Given the description of an element on the screen output the (x, y) to click on. 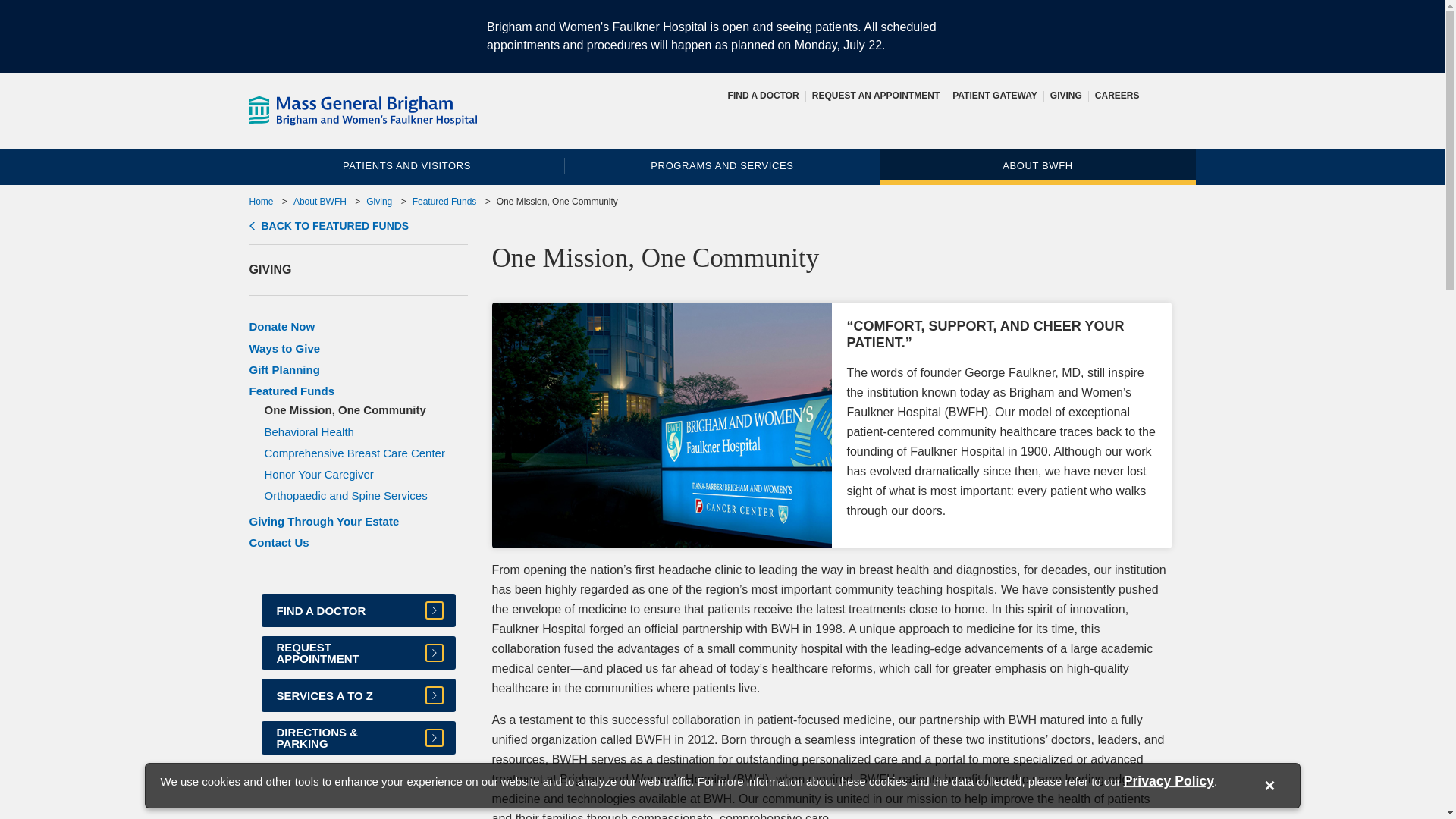
Information about Brigham and Women's Faulkner Hospital (1037, 166)
Honor Your Caregiver (317, 473)
Donate Now (281, 326)
GIVING (1065, 95)
PROGRAMS AND SERVICES (721, 166)
Featured Funds (291, 390)
Giving (1065, 95)
About BWFH (320, 201)
PATIENT GATEWAY (994, 95)
REQUEST AN APPOINTMENT (875, 95)
Find a Doctor (763, 95)
BACK TO FEATURED FUNDS (328, 225)
Patient Gateway (994, 95)
PATIENTS AND VISITORS (406, 166)
Contact Us (278, 542)
